Given the description of an element on the screen output the (x, y) to click on. 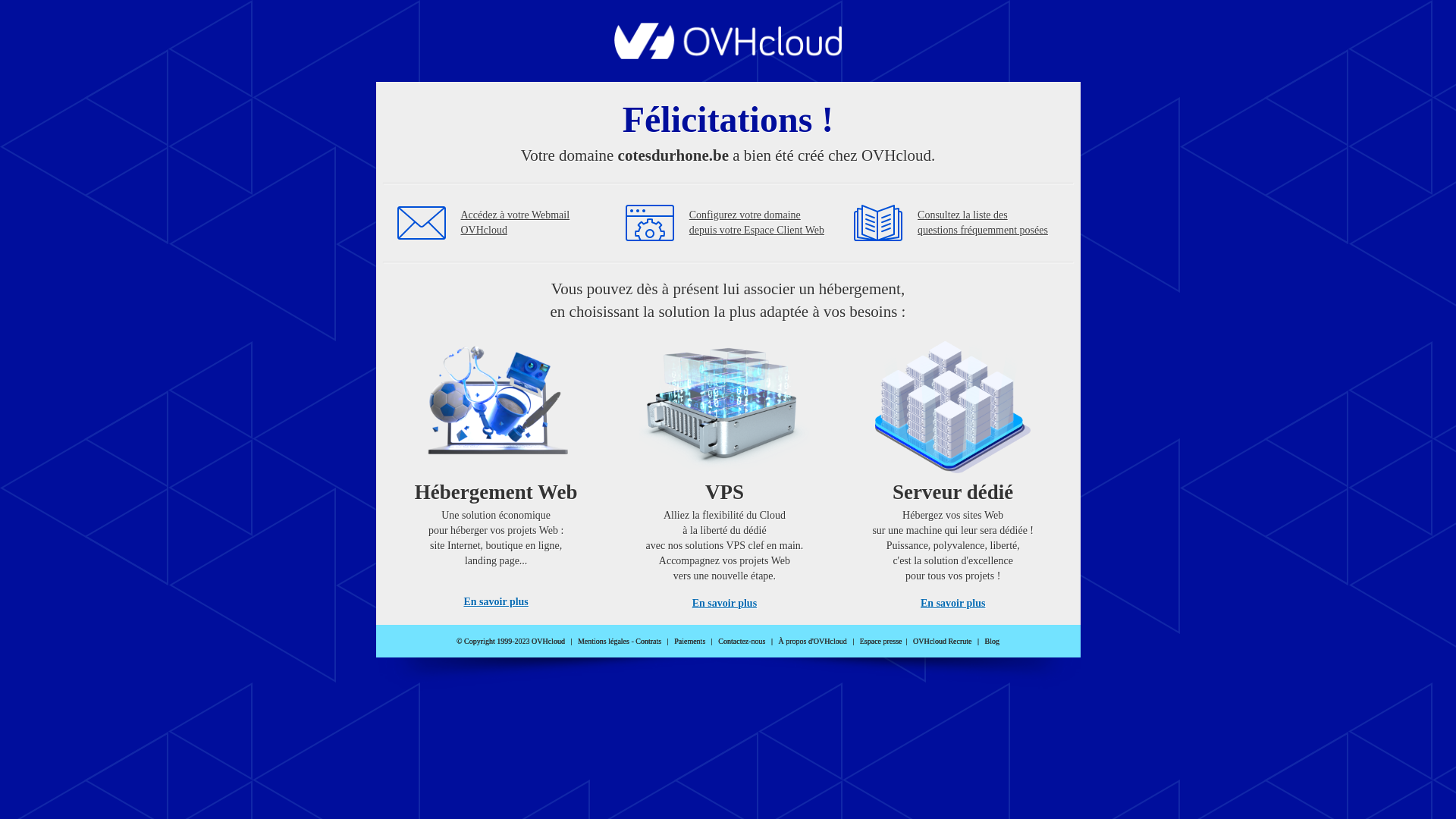
Contactez-nous Element type: text (741, 641)
Paiements Element type: text (689, 641)
En savoir plus Element type: text (724, 602)
Espace presse Element type: text (880, 641)
VPS Element type: hover (724, 469)
En savoir plus Element type: text (495, 601)
Configurez votre domaine
depuis votre Espace Client Web Element type: text (756, 222)
OVHcloud Recrute Element type: text (942, 641)
Blog Element type: text (992, 641)
OVHcloud Element type: hover (727, 54)
En savoir plus Element type: text (952, 602)
